Given the description of an element on the screen output the (x, y) to click on. 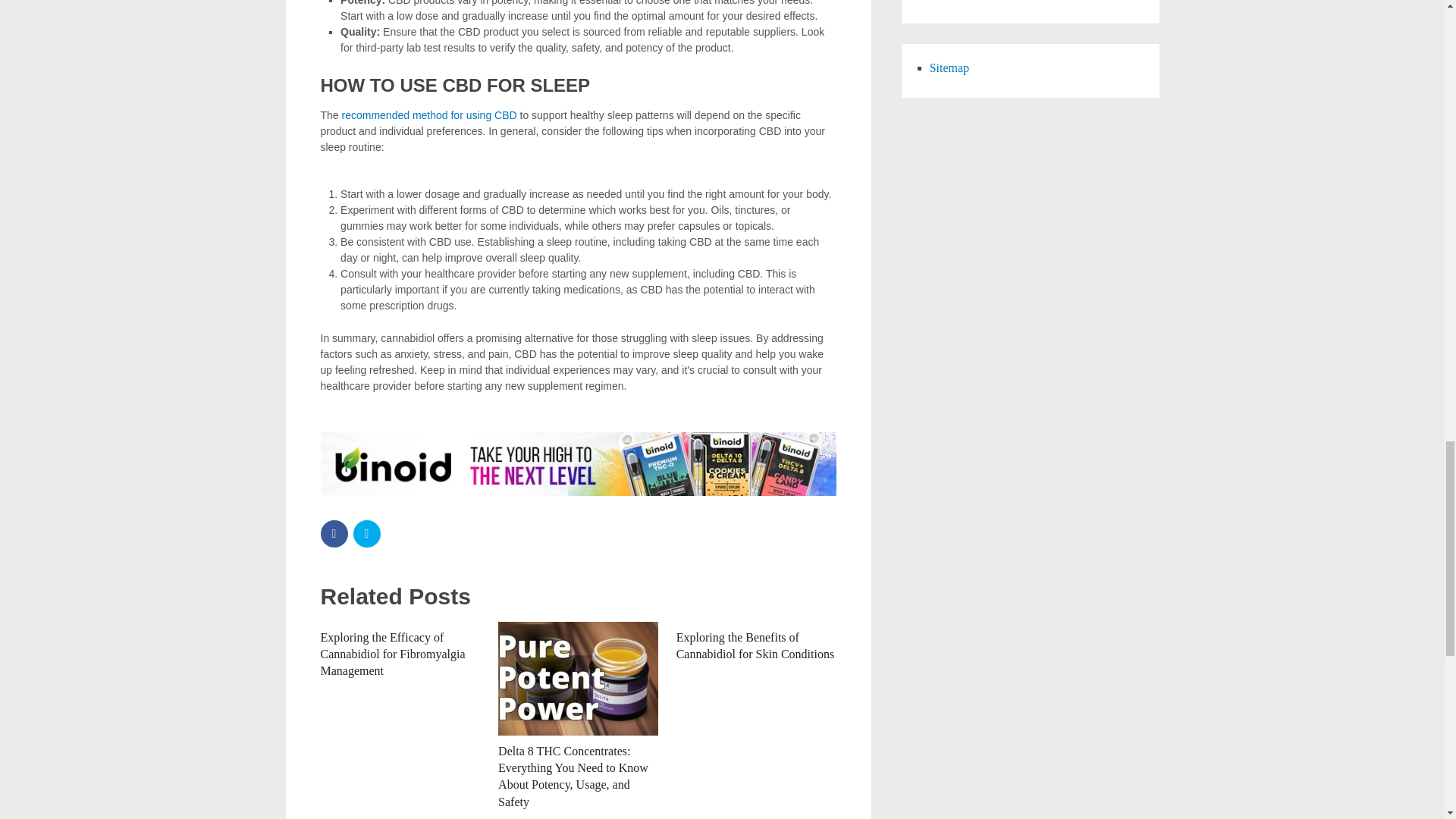
recommended method for using CBD (429, 114)
Exploring the Benefits of Cannabidiol for Skin Conditions (755, 645)
Exploring the Benefits of Cannabidiol for Skin Conditions (755, 645)
